Given the description of an element on the screen output the (x, y) to click on. 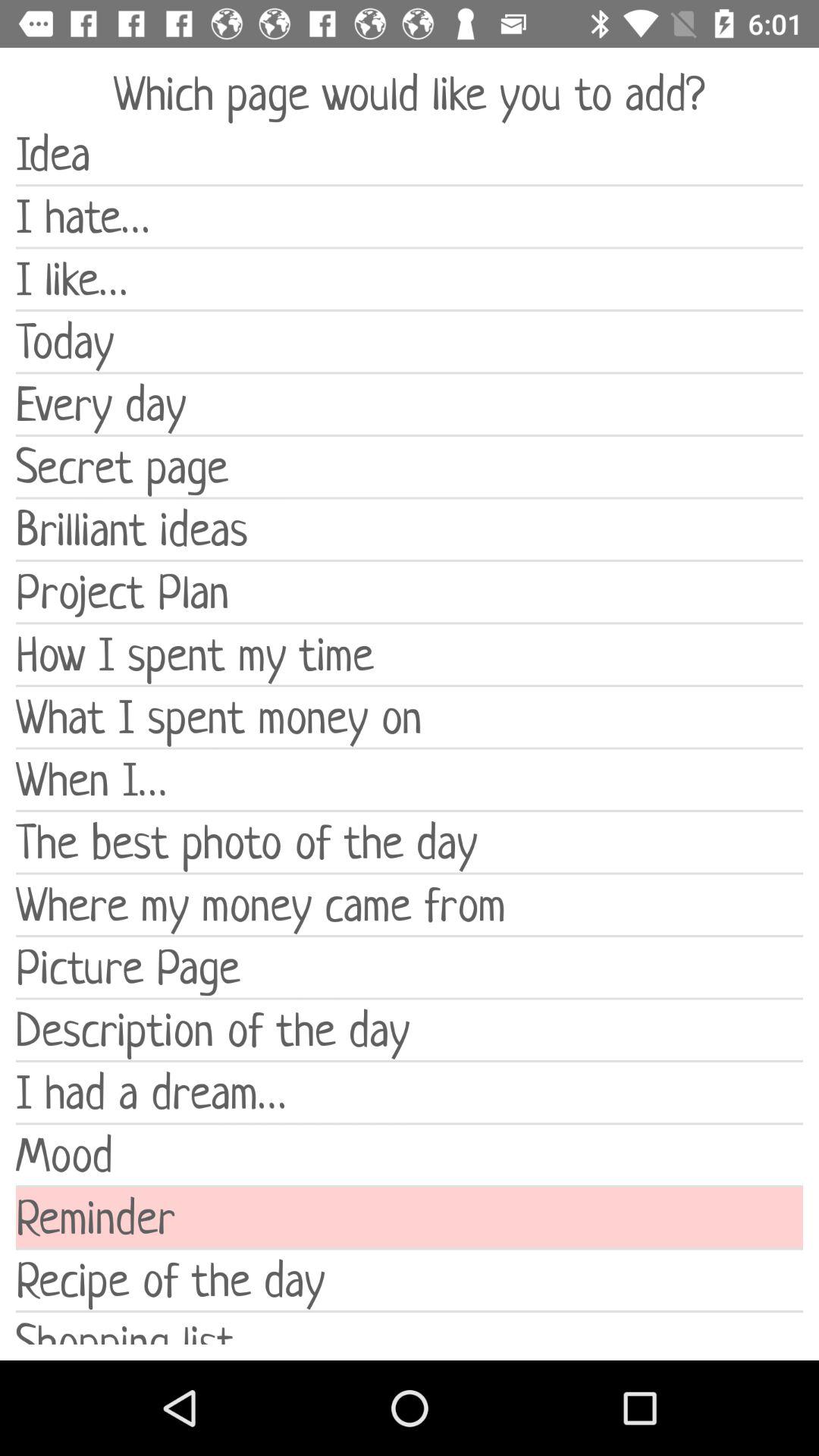
swipe to the the best photo (409, 842)
